Given the description of an element on the screen output the (x, y) to click on. 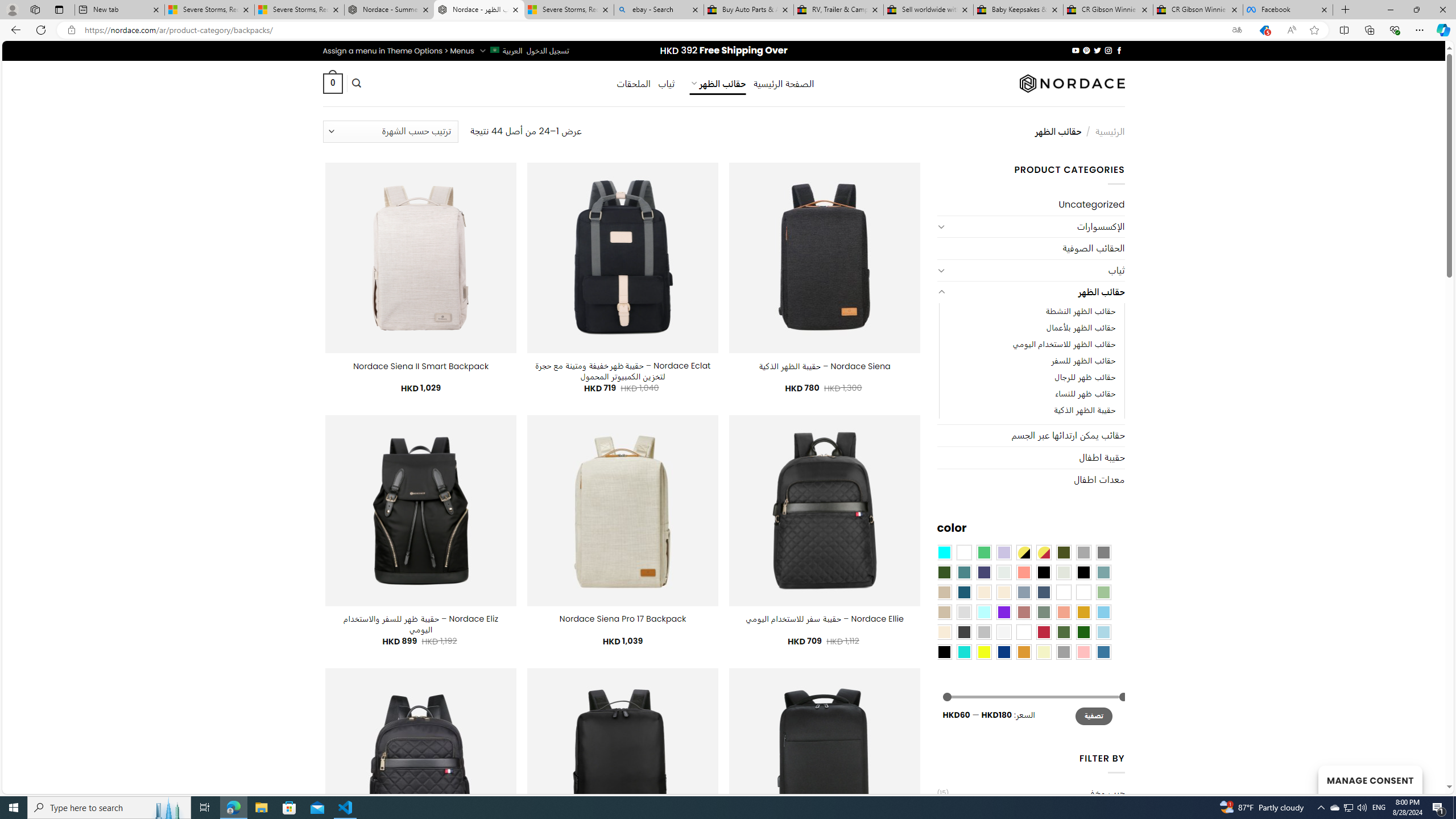
Follow on Facebook (1118, 50)
Dull Nickle (1003, 572)
Brownie (944, 591)
Light Green (1103, 591)
Facebook (1287, 9)
Rose (1023, 611)
